Given the description of an element on the screen output the (x, y) to click on. 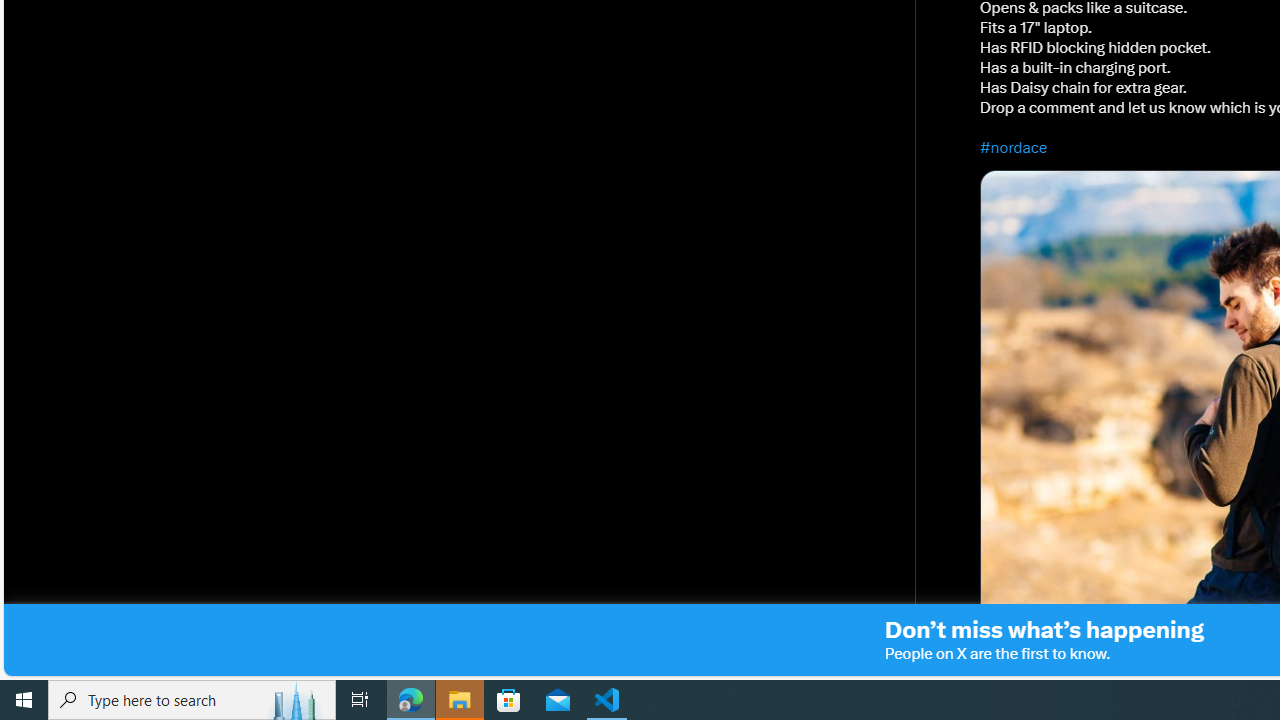
#nordace (1014, 147)
